Given the description of an element on the screen output the (x, y) to click on. 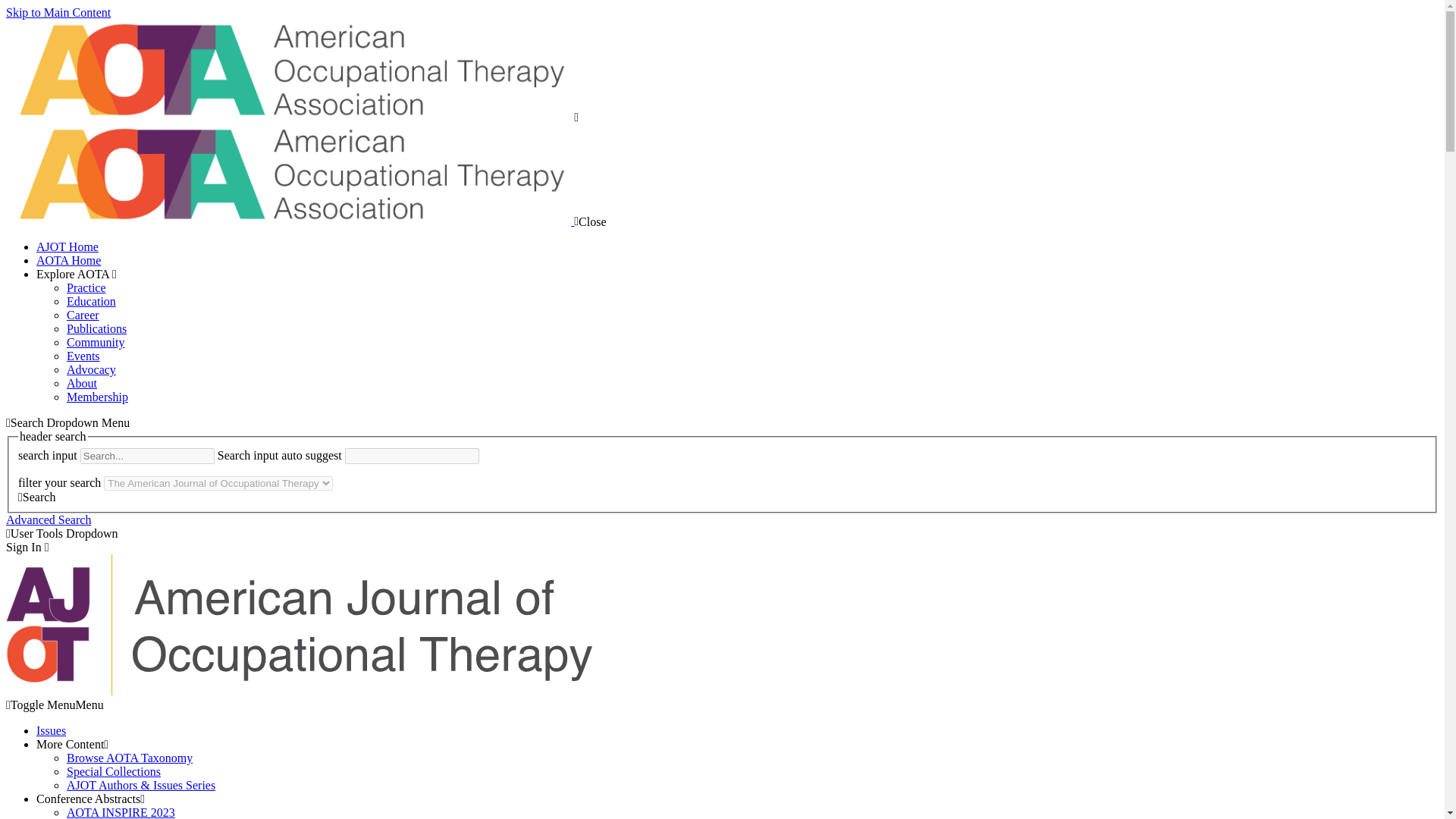
Community (94, 341)
Explore AOTA (76, 273)
Membership (97, 396)
User Tools Dropdown (61, 533)
More Content (71, 744)
AOTA Home (68, 259)
Search Dropdown Menu (67, 422)
AOTA INSPIRE 2023 (120, 812)
Skip to Main Content (57, 11)
Publications (96, 328)
Browse AOTA Taxonomy (129, 757)
Search (36, 496)
Practice (86, 287)
Advocacy (91, 369)
Close (589, 220)
